Given the description of an element on the screen output the (x, y) to click on. 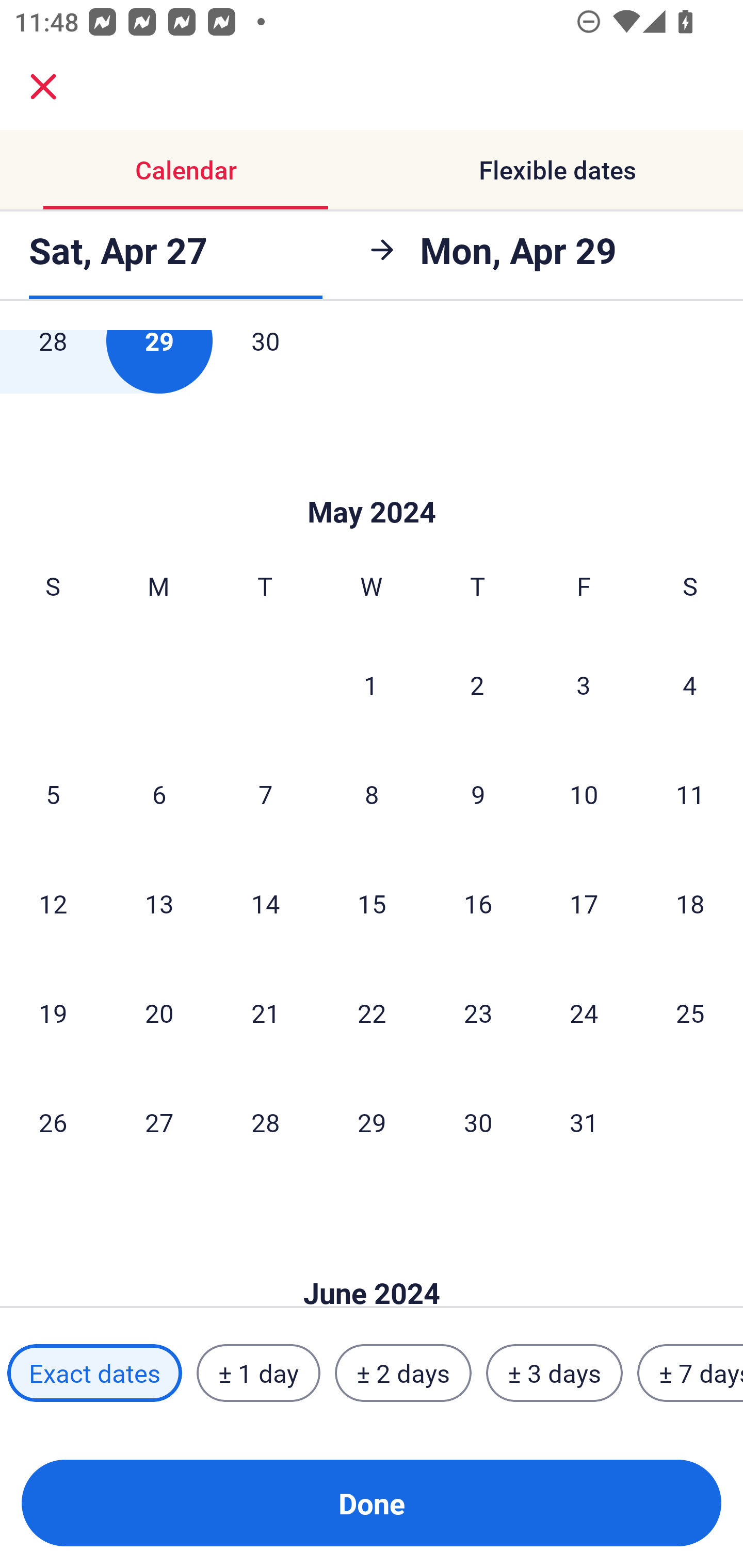
close. (43, 86)
Flexible dates (557, 170)
30 Tuesday, April 30, 2024 (265, 361)
Skip to Done (371, 481)
1 Wednesday, May 1, 2024 (371, 683)
2 Thursday, May 2, 2024 (477, 683)
3 Friday, May 3, 2024 (583, 683)
4 Saturday, May 4, 2024 (689, 683)
5 Sunday, May 5, 2024 (53, 793)
6 Monday, May 6, 2024 (159, 793)
7 Tuesday, May 7, 2024 (265, 793)
8 Wednesday, May 8, 2024 (371, 793)
9 Thursday, May 9, 2024 (477, 793)
10 Friday, May 10, 2024 (584, 793)
11 Saturday, May 11, 2024 (690, 793)
12 Sunday, May 12, 2024 (53, 902)
13 Monday, May 13, 2024 (159, 902)
14 Tuesday, May 14, 2024 (265, 902)
15 Wednesday, May 15, 2024 (371, 902)
16 Thursday, May 16, 2024 (477, 902)
17 Friday, May 17, 2024 (584, 902)
18 Saturday, May 18, 2024 (690, 902)
19 Sunday, May 19, 2024 (53, 1012)
20 Monday, May 20, 2024 (159, 1012)
21 Tuesday, May 21, 2024 (265, 1012)
22 Wednesday, May 22, 2024 (371, 1012)
23 Thursday, May 23, 2024 (477, 1012)
24 Friday, May 24, 2024 (584, 1012)
25 Saturday, May 25, 2024 (690, 1012)
26 Sunday, May 26, 2024 (53, 1121)
27 Monday, May 27, 2024 (159, 1121)
28 Tuesday, May 28, 2024 (265, 1121)
29 Wednesday, May 29, 2024 (371, 1121)
30 Thursday, May 30, 2024 (477, 1121)
31 Friday, May 31, 2024 (584, 1121)
Skip to Done (371, 1262)
Exact dates (94, 1372)
± 1 day (258, 1372)
± 2 days (403, 1372)
± 3 days (553, 1372)
± 7 days (690, 1372)
Done (371, 1502)
